Given the description of an element on the screen output the (x, y) to click on. 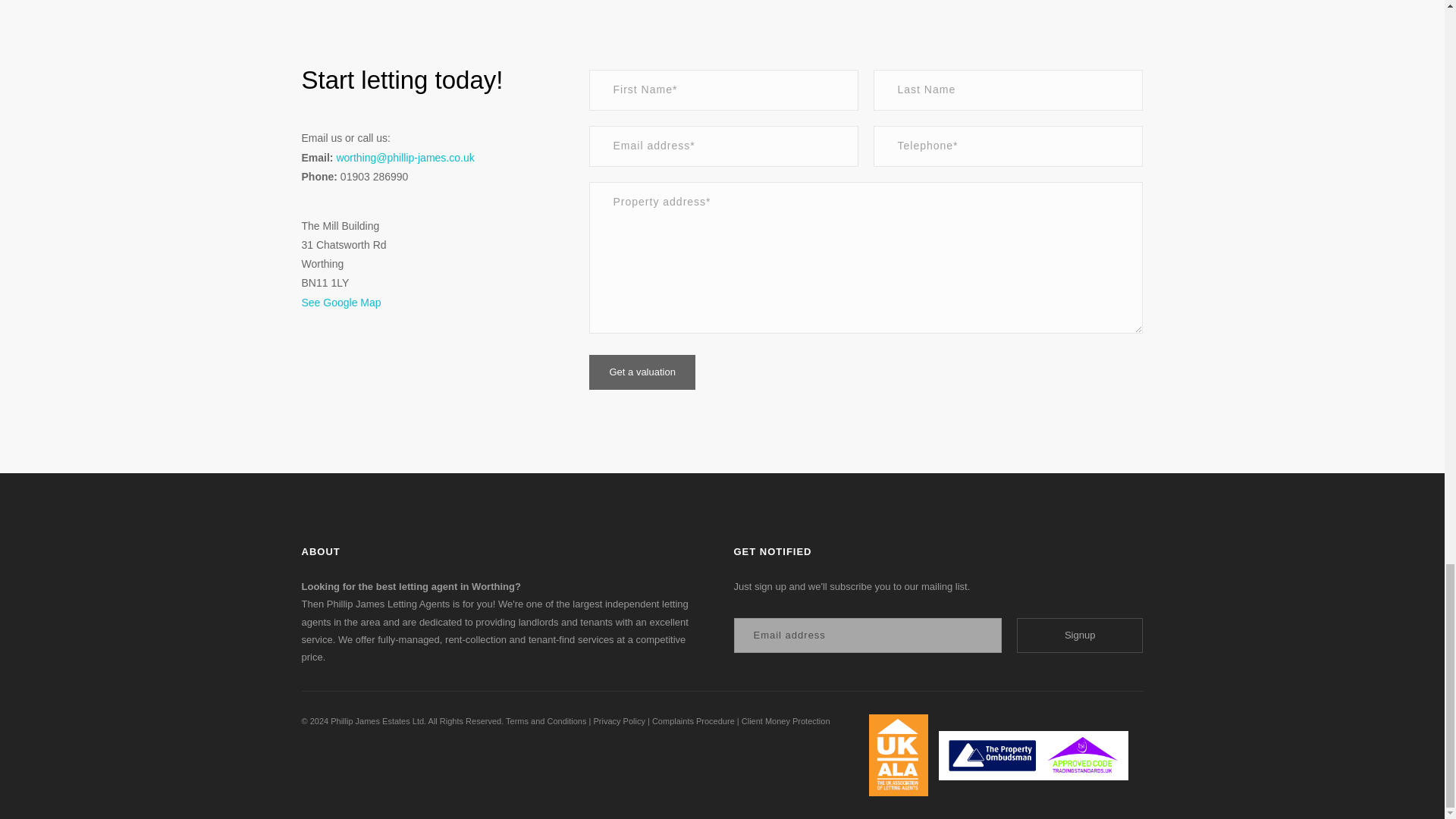
Get a valuation (641, 371)
Signup (1079, 635)
